Given the description of an element on the screen output the (x, y) to click on. 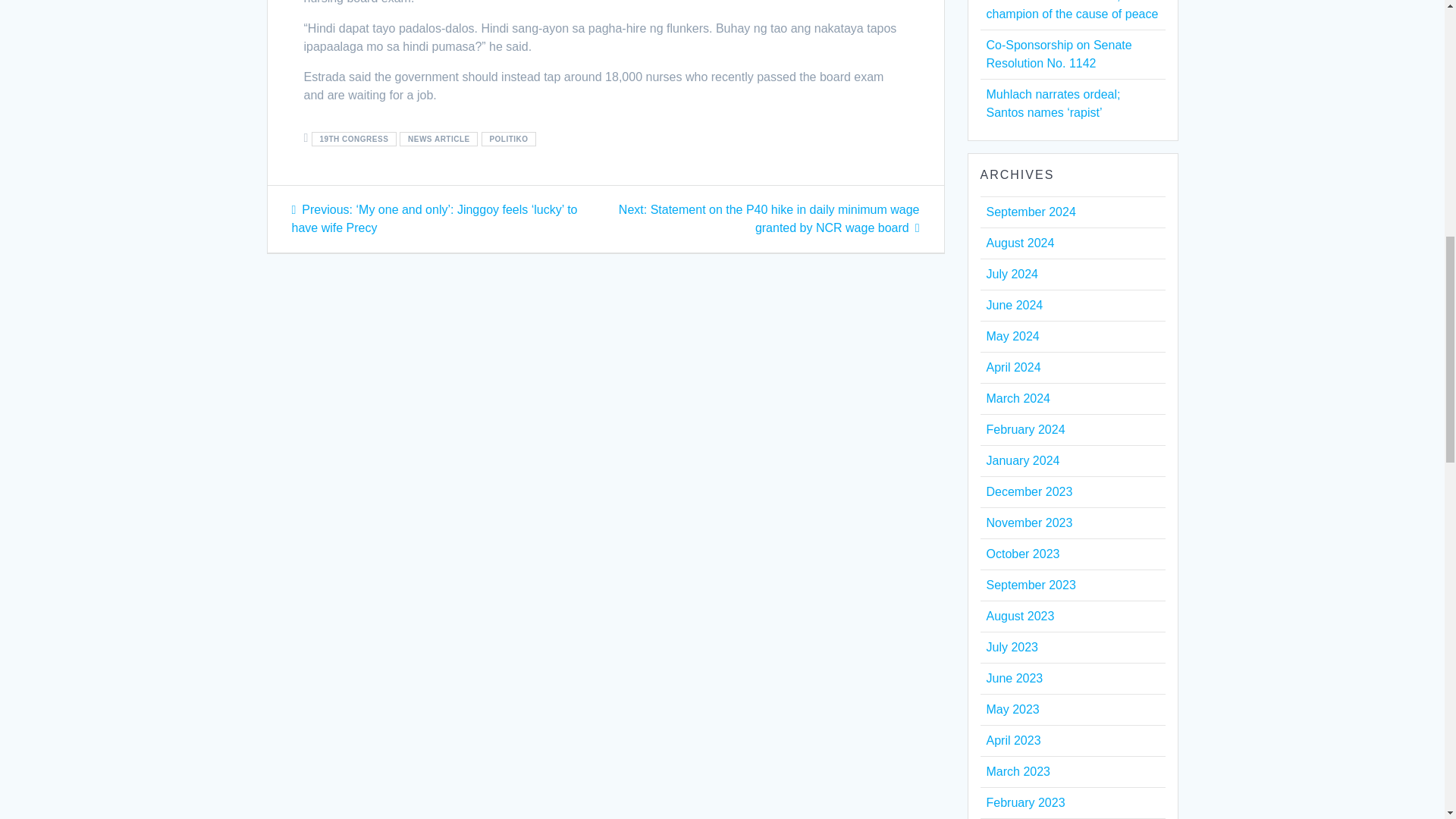
NEWS ARTICLE (437, 138)
May 2024 (1012, 336)
July 2024 (1011, 273)
March 2024 (1017, 398)
August 2024 (1019, 242)
Co-Sponsorship on Senate Resolution No. 1142 (1058, 53)
January 2024 (1022, 460)
February 2024 (1024, 429)
September 2024 (1030, 211)
